Given the description of an element on the screen output the (x, y) to click on. 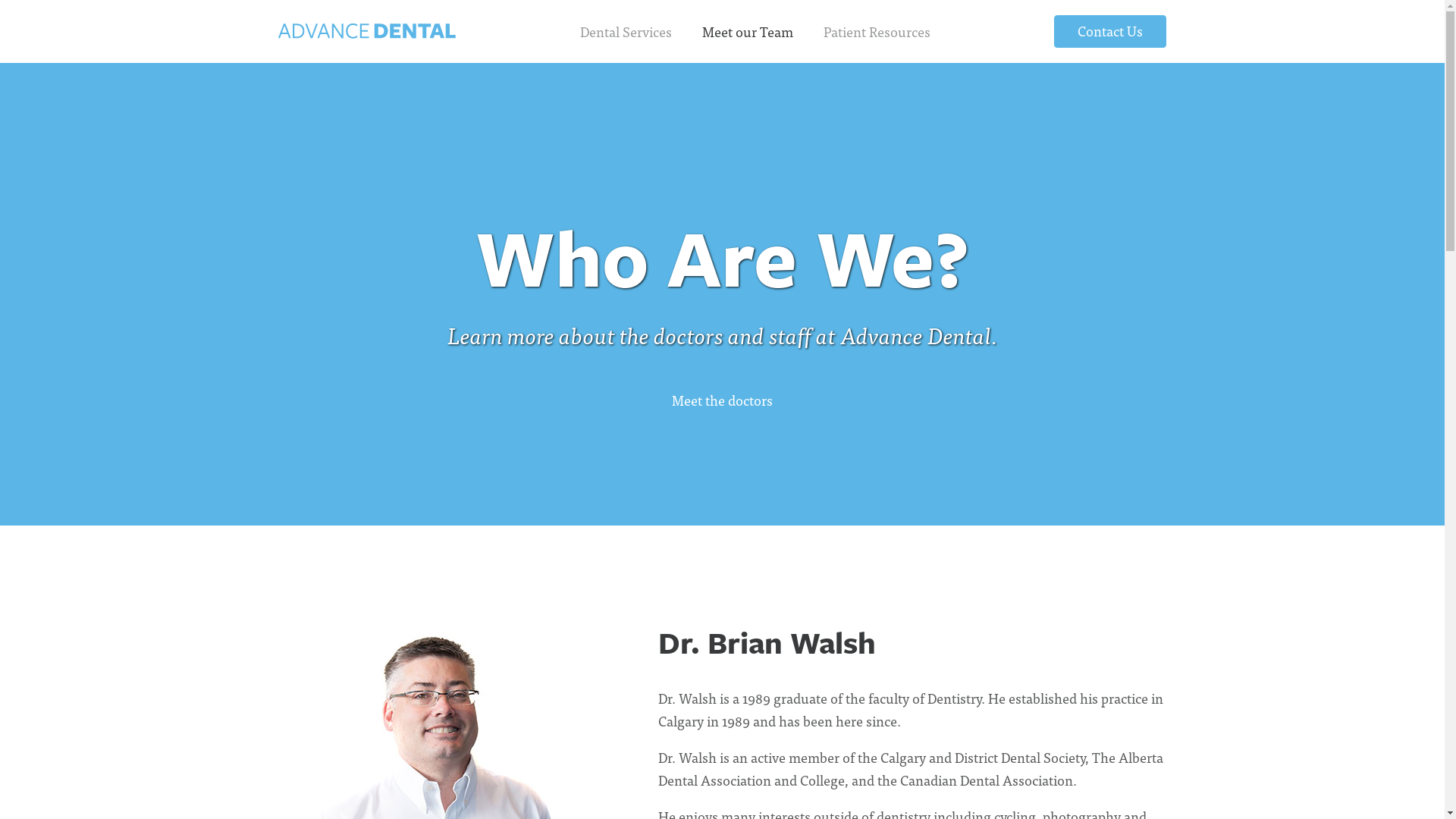
Contact Us Element type: text (1110, 31)
Advance Dental Element type: text (366, 30)
Meet our Team Element type: text (747, 31)
Dental Services Element type: text (625, 31)
Patient Resources Element type: text (876, 31)
Meet the doctors Element type: text (722, 400)
